Given the description of an element on the screen output the (x, y) to click on. 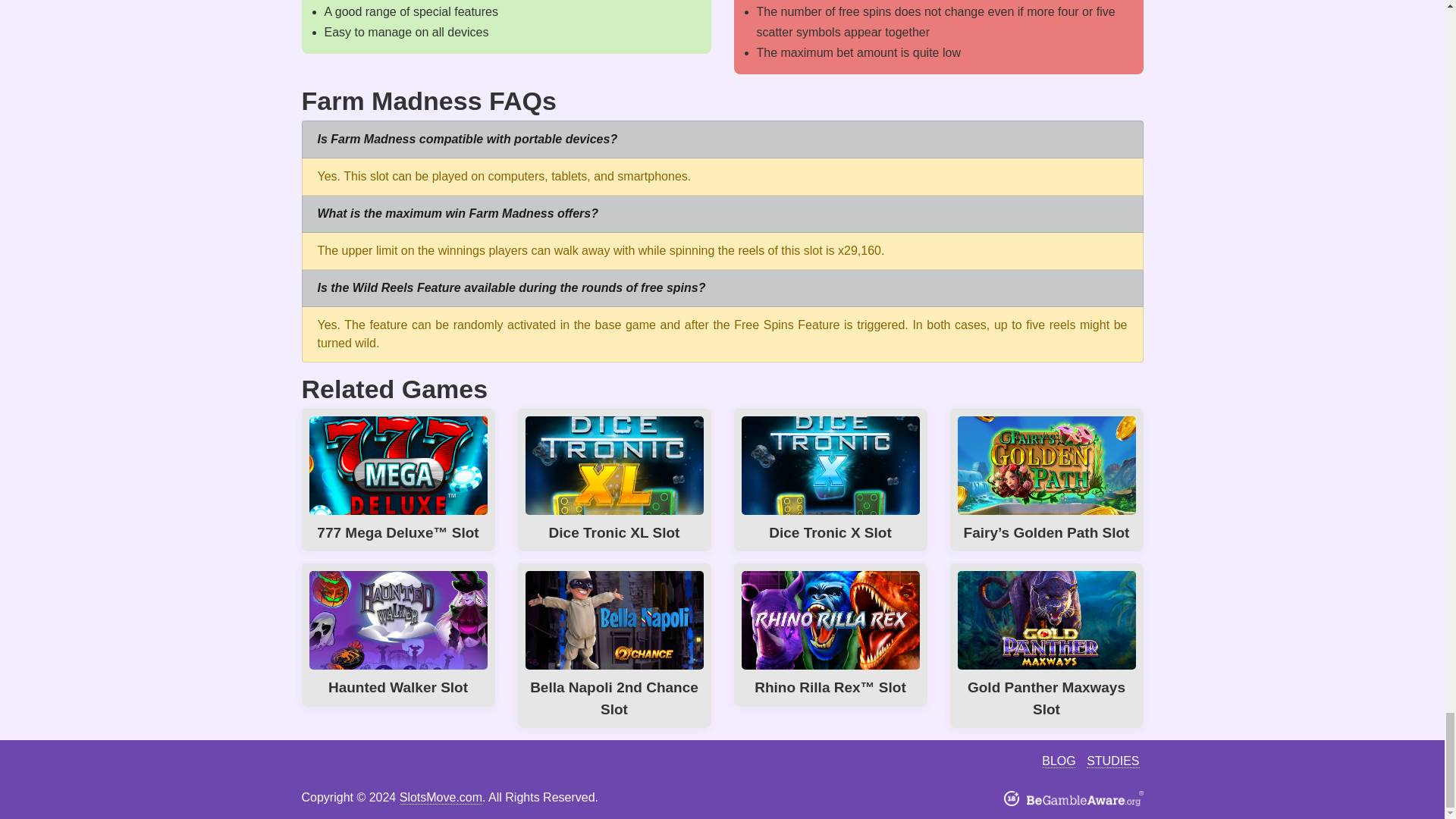
SlotsMove.com (439, 797)
STUDIES (1112, 761)
BLOG (1058, 761)
